Given the description of an element on the screen output the (x, y) to click on. 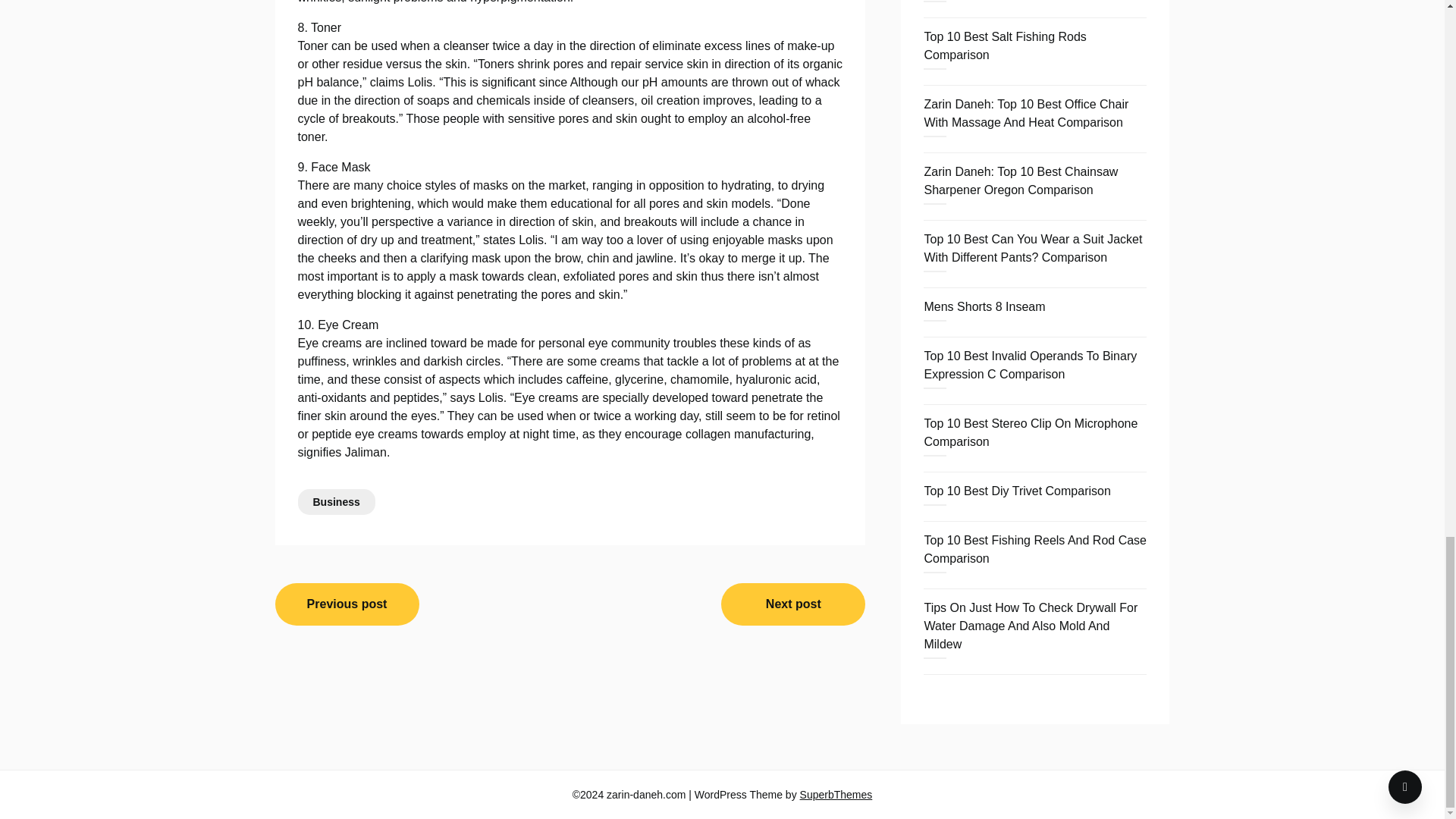
Top 10 Best Diy Trivet Comparison (1016, 490)
Top 10 Best Fishing Reels And Rod Case Comparison (1035, 549)
Top 10 Best Stereo Clip On Microphone Comparison (1030, 431)
Business (335, 501)
SuperbThemes (835, 794)
Next post (792, 604)
Top 10 Best Salt Fishing Rods Comparison (1004, 45)
